Given the description of an element on the screen output the (x, y) to click on. 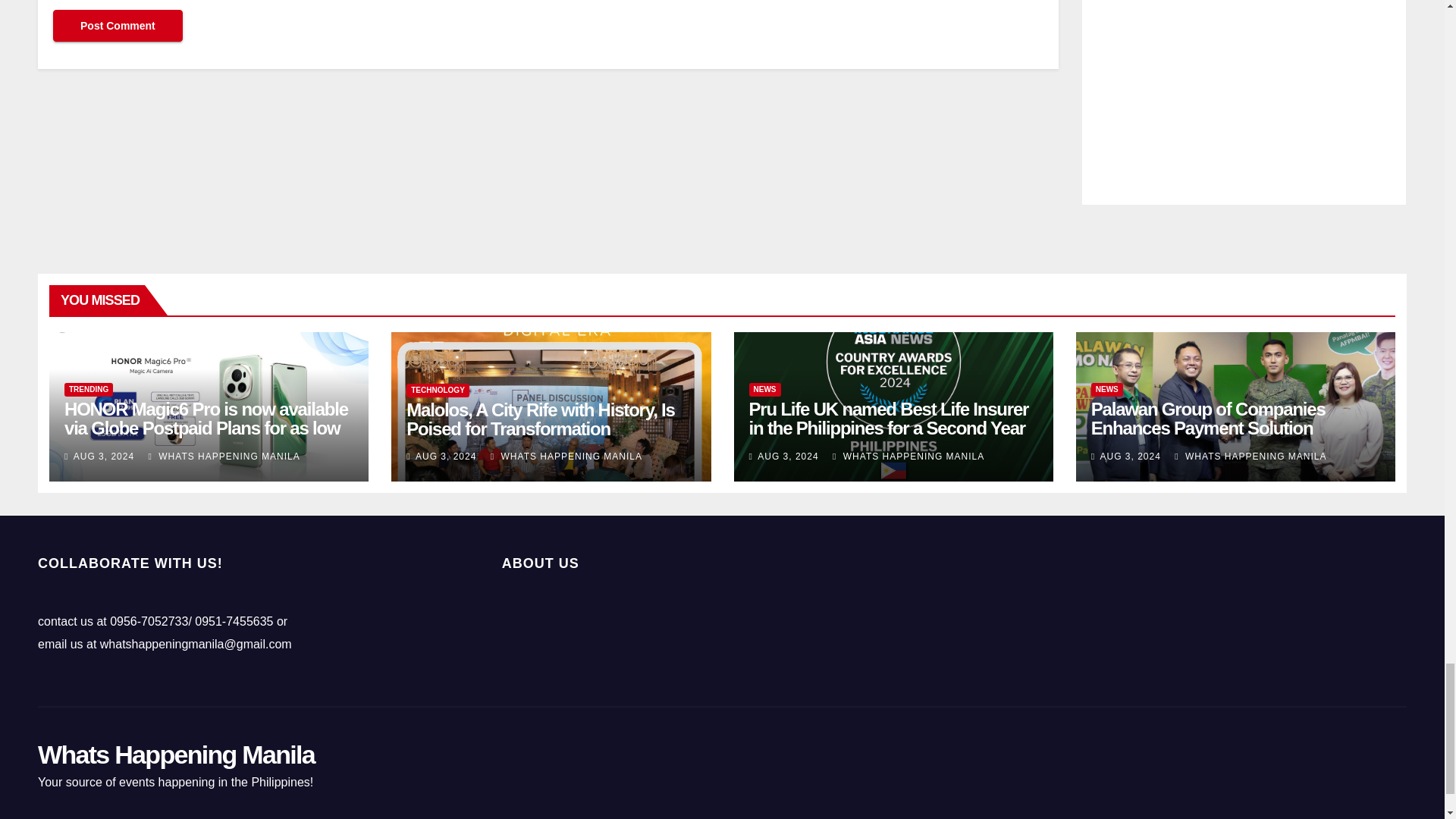
Post Comment (117, 25)
Post Comment (117, 25)
